Given the description of an element on the screen output the (x, y) to click on. 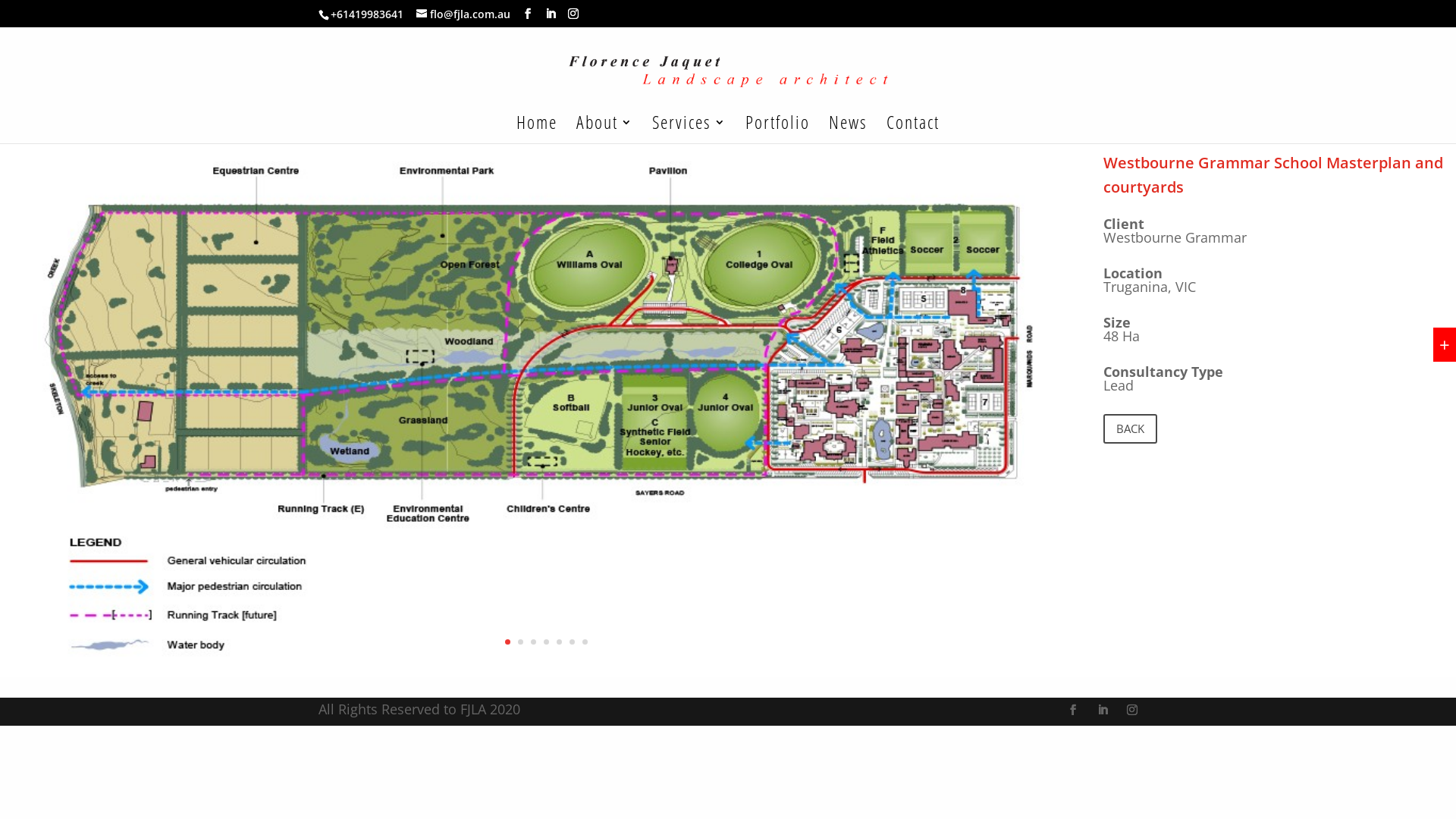
3 Element type: text (533, 641)
4 Element type: text (545, 641)
BACK Element type: text (1130, 428)
1-WESTBOURNE GRAMMAR SCHOOL MASTERPLAN6 Element type: hover (546, 677)
Portfolio Element type: text (777, 129)
2 Element type: text (519, 641)
1 Element type: text (507, 641)
News Element type: text (847, 129)
7 Element type: text (584, 641)
Contact Element type: text (912, 129)
5 Element type: text (558, 641)
Home Element type: text (536, 129)
About Element type: text (604, 129)
flo@fjla.com.au Element type: text (463, 13)
6 Element type: text (571, 641)
Services Element type: text (689, 129)
